Given the description of an element on the screen output the (x, y) to click on. 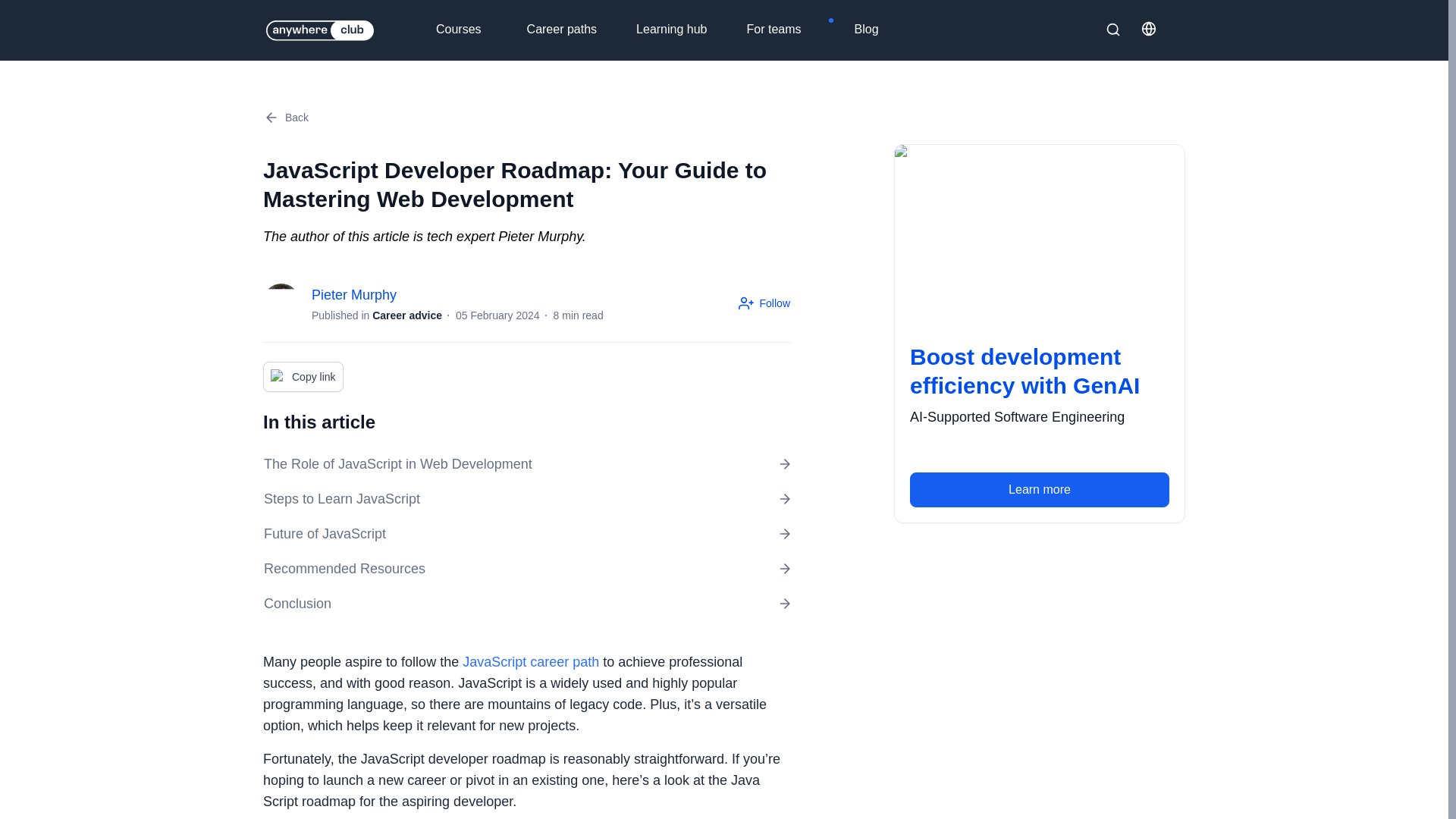
The Role of JavaScript in Web Development (526, 463)
Follow (764, 303)
Future of JavaScript (526, 533)
Conclusion (526, 603)
Steps to Learn JavaScript (526, 498)
Courses (476, 30)
For teams (790, 30)
Learning hub (681, 30)
Career paths (572, 30)
Pieter Murphy (457, 294)
Copy link (303, 376)
Back (285, 117)
Recommended Resources (526, 568)
Blog (876, 30)
